Given the description of an element on the screen output the (x, y) to click on. 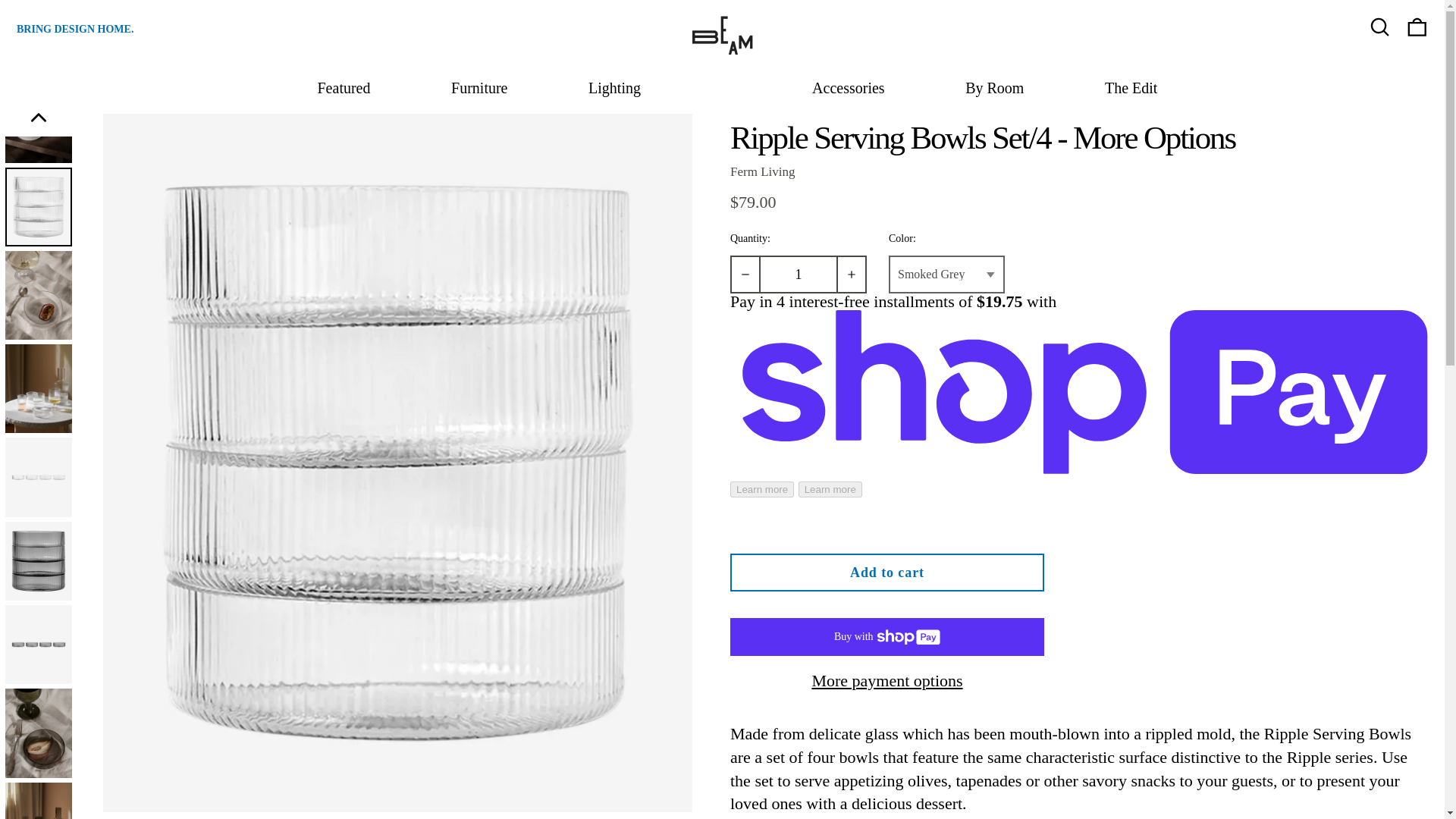
1 (797, 274)
